Given the description of an element on the screen output the (x, y) to click on. 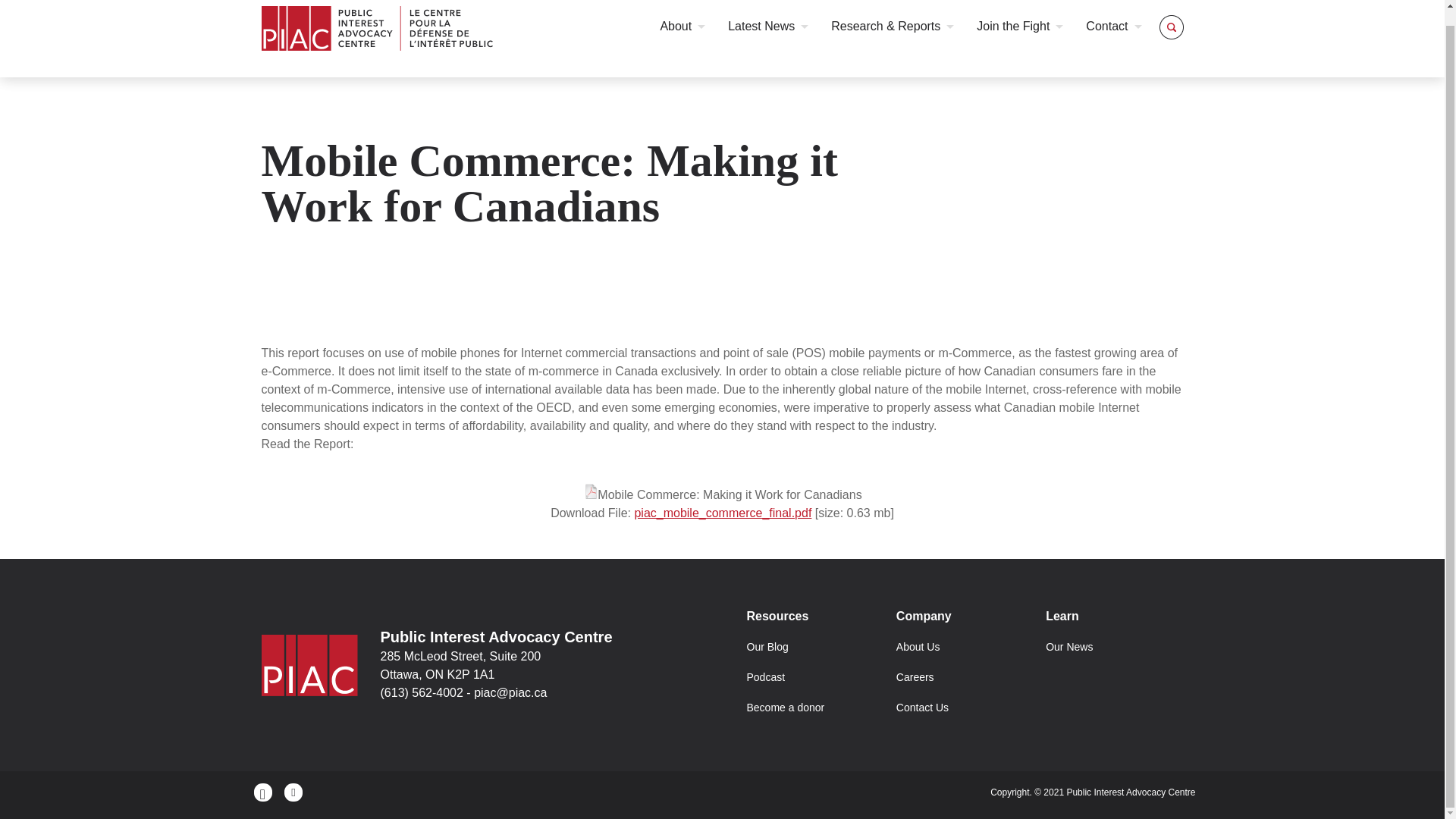
Contact (1113, 26)
Become a donor (784, 707)
Latest News (767, 26)
Contact Us (922, 707)
Podcast (764, 676)
Search (1148, 24)
Our News (1069, 646)
Join the Fight (1019, 26)
About Us (918, 646)
Search (1148, 24)
